Given the description of an element on the screen output the (x, y) to click on. 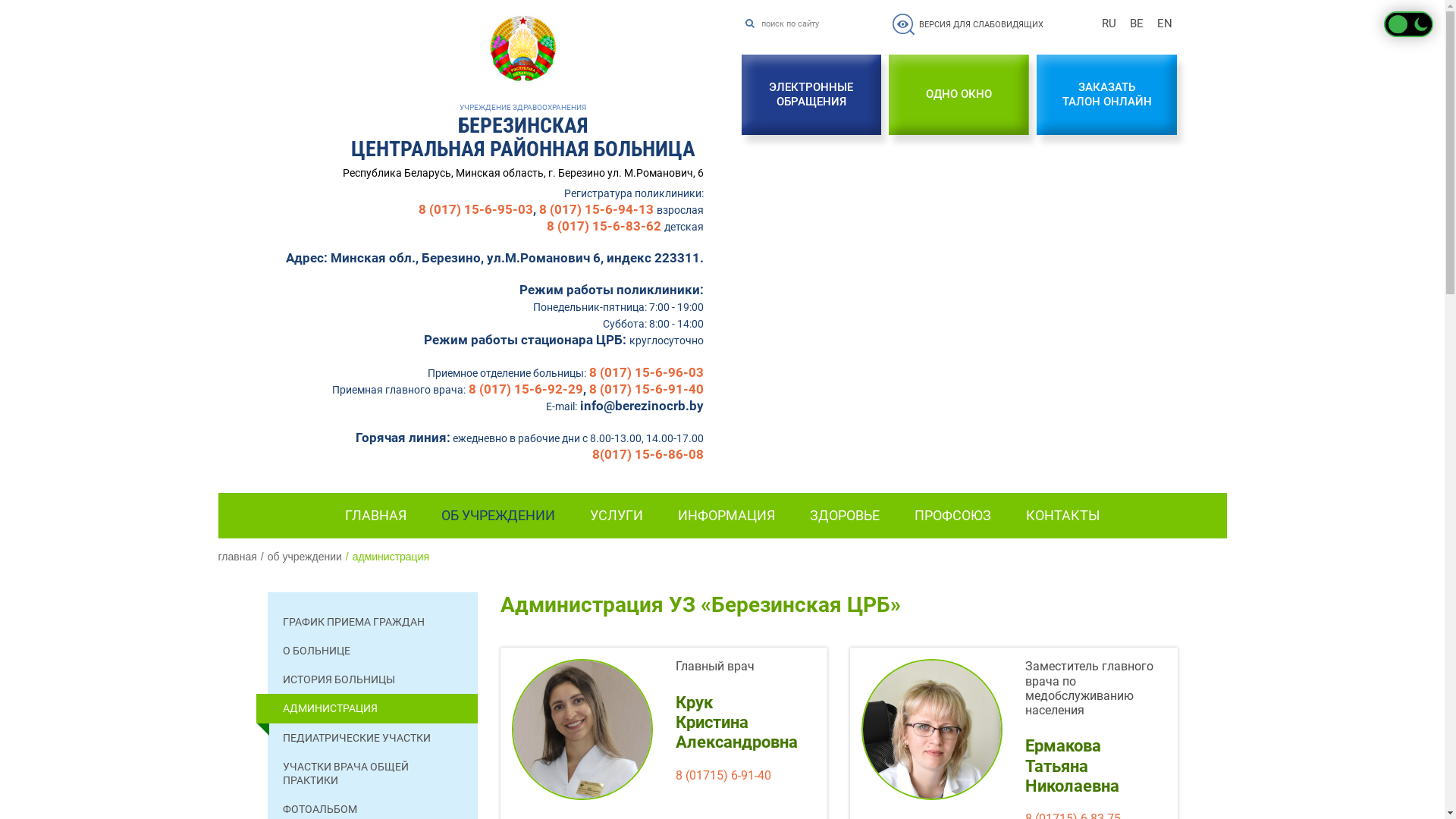
8 (017) 15-6-94-13 Element type: text (595, 208)
8 (017) 15-6-92-29 Element type: text (525, 388)
8 (017) 15-6-83-62 Element type: text (603, 225)
RU Element type: text (1108, 23)
8 (017) 15-6-96-03 Element type: text (645, 371)
8 (017) 15-6-95-03 Element type: text (475, 208)
BE Element type: text (1135, 23)
8(017) 15-6-86-08 Element type: text (646, 453)
8 (017) 15-6-91-40 Element type: text (645, 388)
EN Element type: text (1163, 23)
8 (01715) 6-91-40 Element type: text (723, 775)
